Given the description of an element on the screen output the (x, y) to click on. 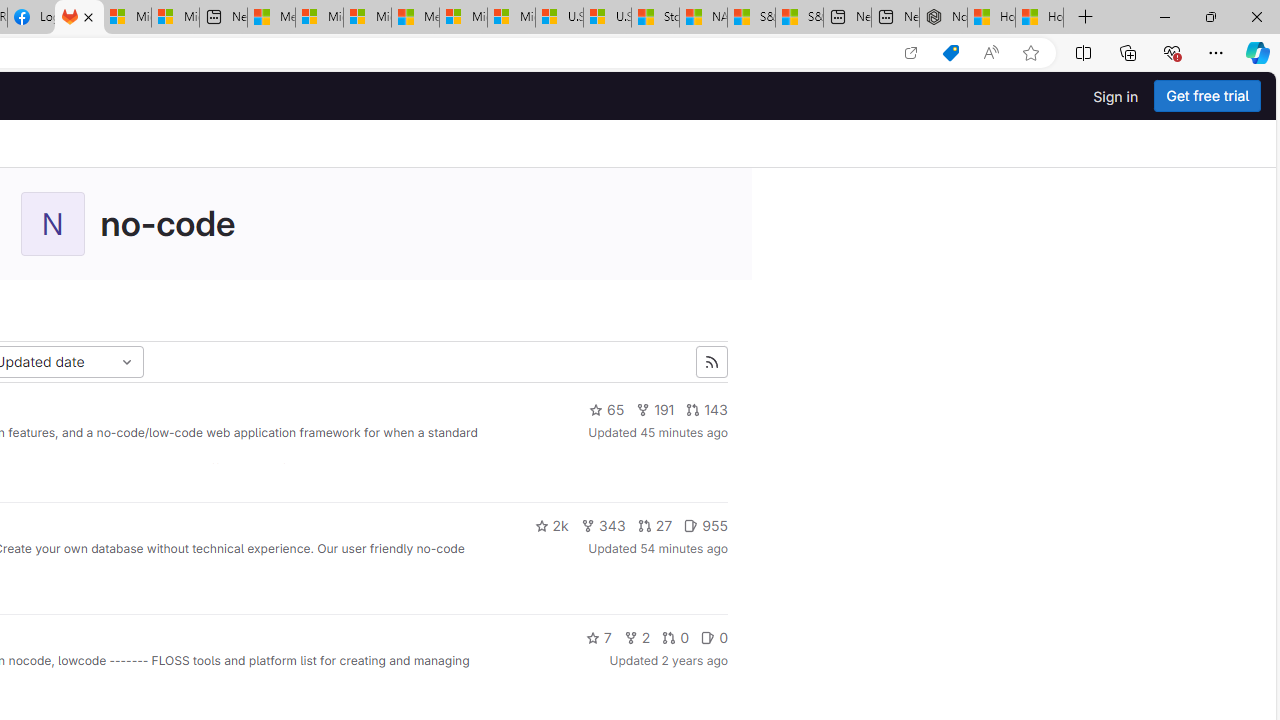
343 (602, 525)
65 (605, 409)
Microsoft account | Privacy (319, 17)
Sign in (1115, 95)
How to Use a Monitor With Your Closed Laptop (1039, 17)
Open in app (910, 53)
Sign in (1115, 95)
S&P 500, Nasdaq end lower, weighed by Nvidia dip | Watch (799, 17)
